Given the description of an element on the screen output the (x, y) to click on. 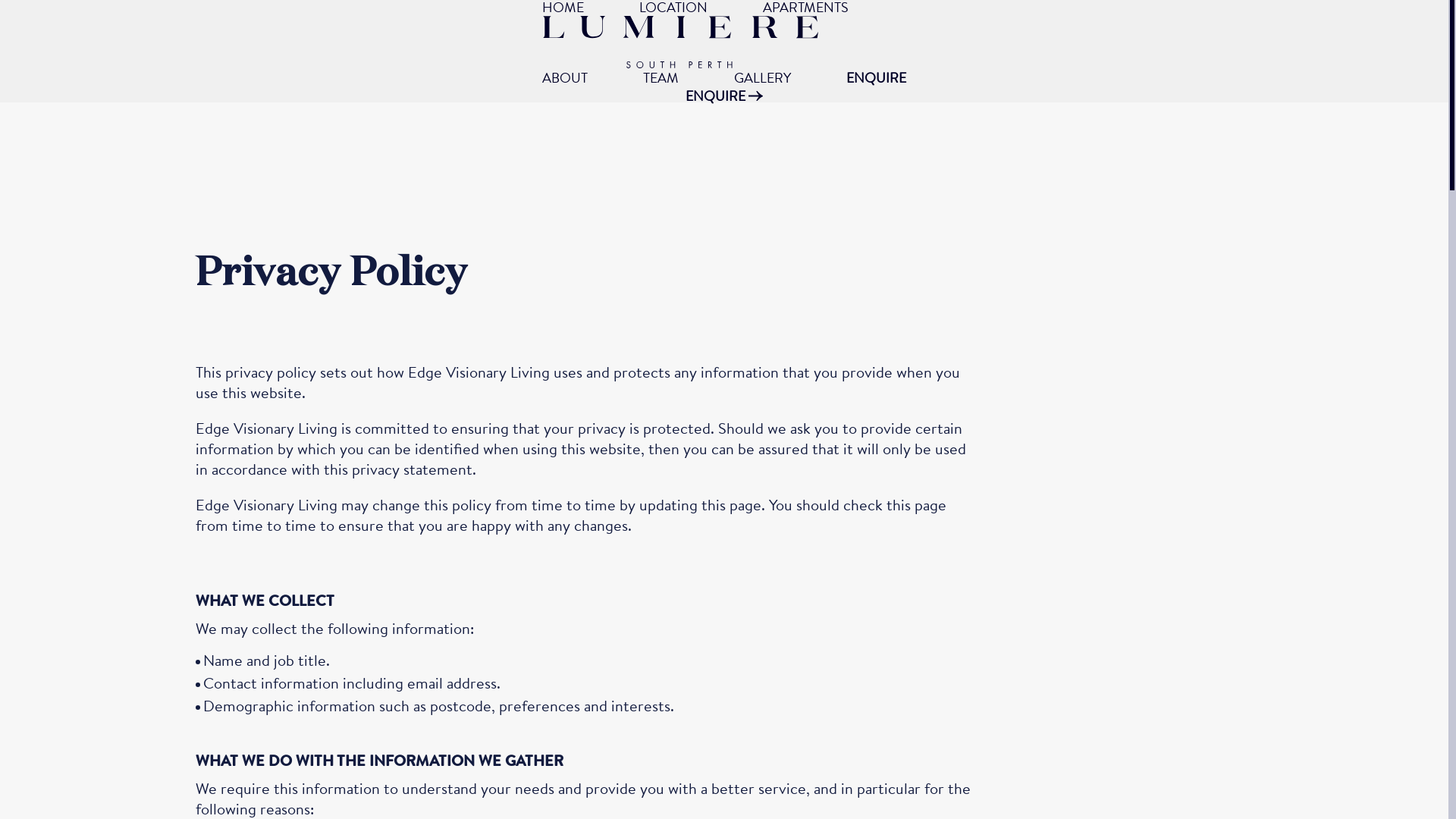
About Element type: text (657, 402)
TEAM Element type: text (660, 77)
Designed by TNG Element type: text (835, 725)
Enquire Element type: text (663, 581)
Privacy Policy Element type: text (683, 725)
35 Mends Street
South Perth WA 6151 Element type: text (878, 377)
Team Element type: text (654, 545)
Tel: 04 Element type: text (1063, 453)
Home Element type: text (657, 367)
Terms & Conditions Element type: text (524, 725)
ENQUIRE Element type: text (723, 95)
Location Element type: text (665, 438)
ENQUIRE Element type: text (876, 77)
Apartments Element type: text (676, 474)
ABOUT Element type: text (564, 77)
Gallery Element type: text (660, 509)
GALLERY Element type: text (762, 77)
